Given the description of an element on the screen output the (x, y) to click on. 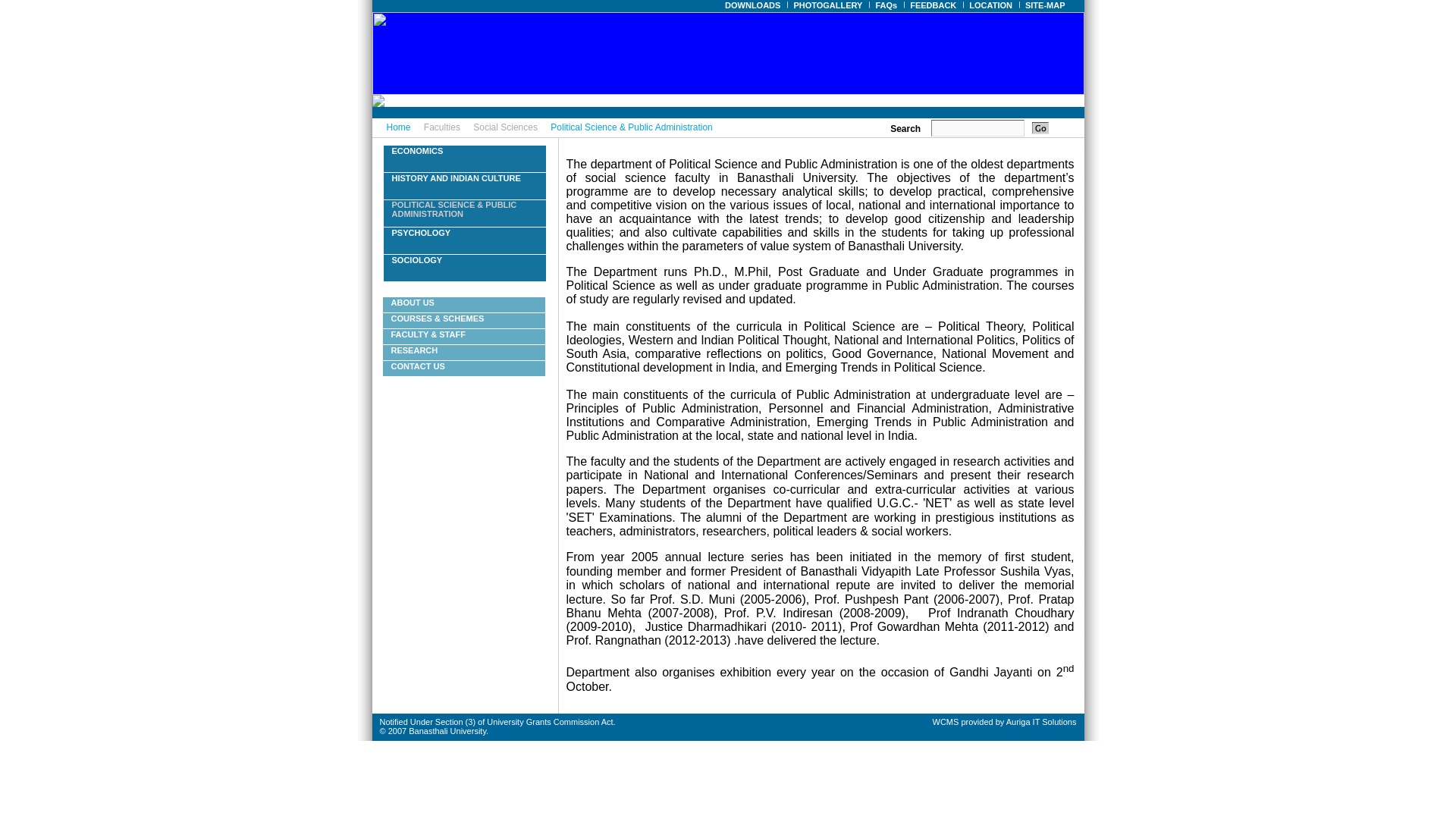
ECONOMICS (416, 150)
FEEDBACK (933, 4)
Social Sciences (505, 127)
PHOTOGALLERY (828, 4)
Faculties (441, 127)
ABOUT US (412, 302)
DOWNLOADS (753, 4)
LOCATION (991, 4)
RESEARCH (414, 349)
CONTACT US (418, 366)
SITE-MAP (1045, 4)
FAQs (886, 4)
PSYCHOLOGY (420, 232)
SOCIOLOGY (416, 259)
HISTORY AND INDIAN CULTURE (455, 177)
